Given the description of an element on the screen output the (x, y) to click on. 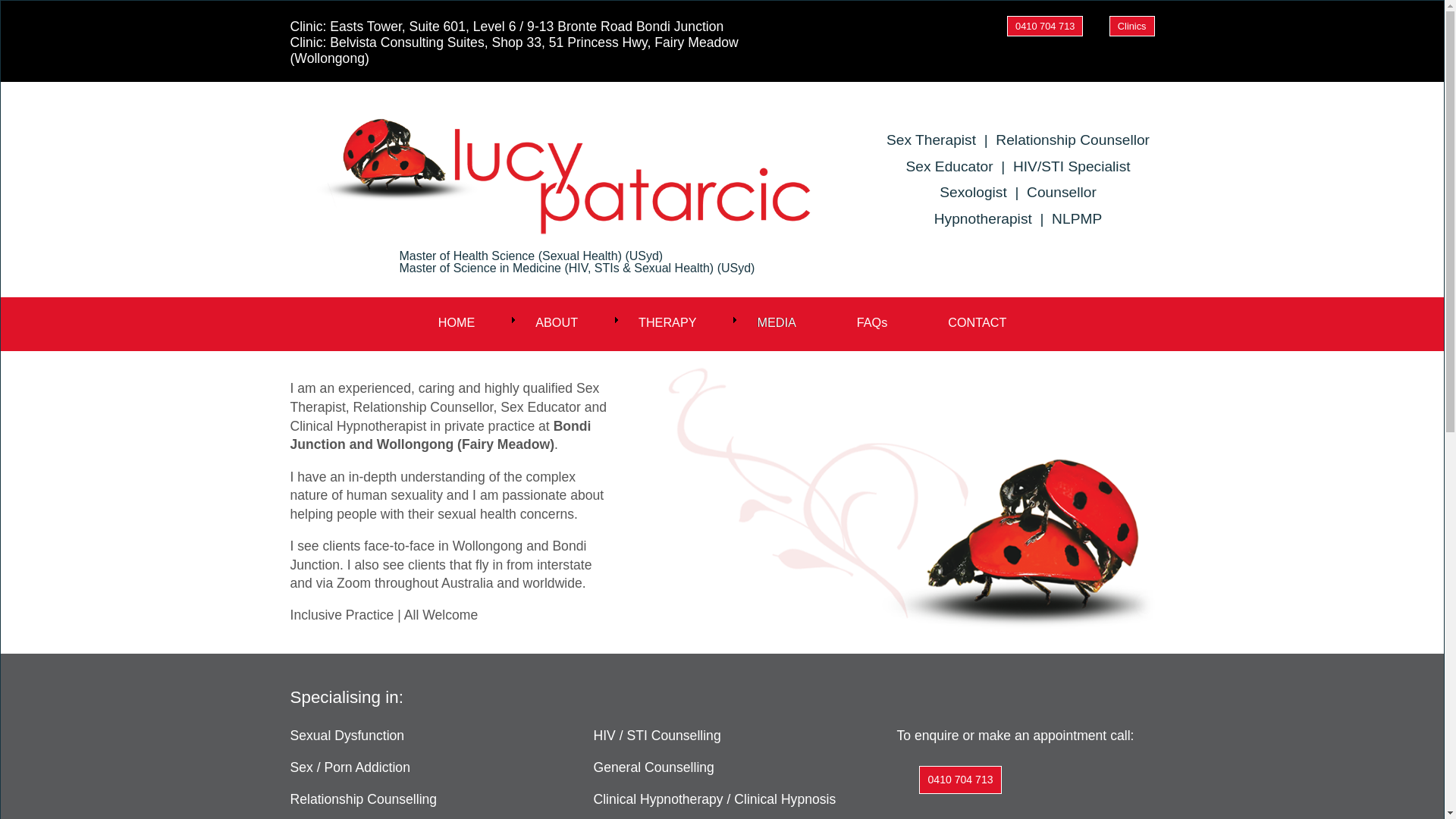
CONTACT Element type: text (976, 320)
HOME Element type: text (456, 320)
ABOUT Element type: text (556, 320)
MEDIA Element type: text (775, 320)
FAQs Element type: text (871, 320)
0410 704 713 Element type: text (1044, 25)
Clinics Element type: text (1131, 25)
0410 704 713 Element type: text (960, 779)
THERAPY Element type: text (667, 320)
